Given the description of an element on the screen output the (x, y) to click on. 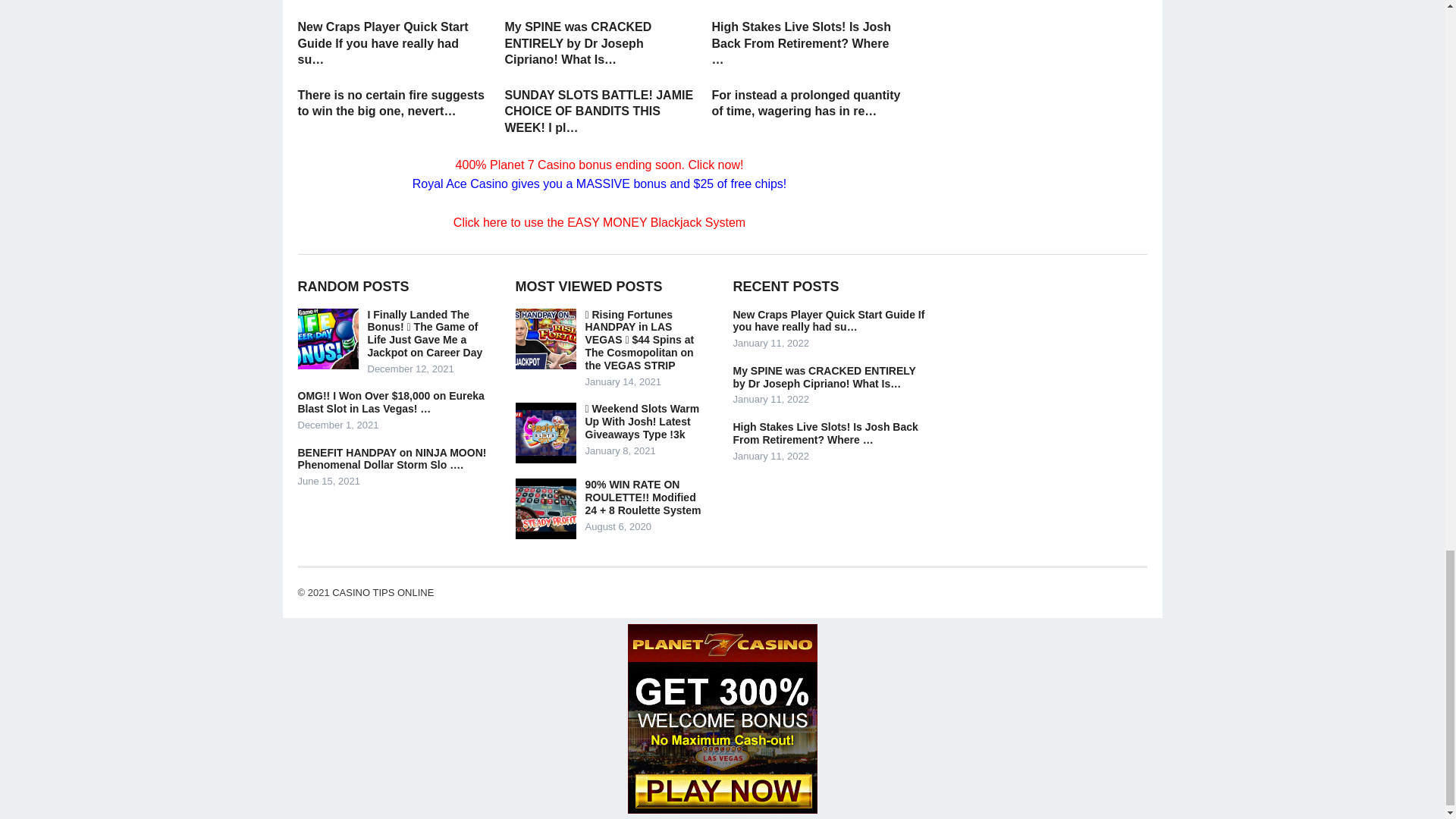
Click here to use the EASY MONEY Blackjack System (598, 222)
